Given the description of an element on the screen output the (x, y) to click on. 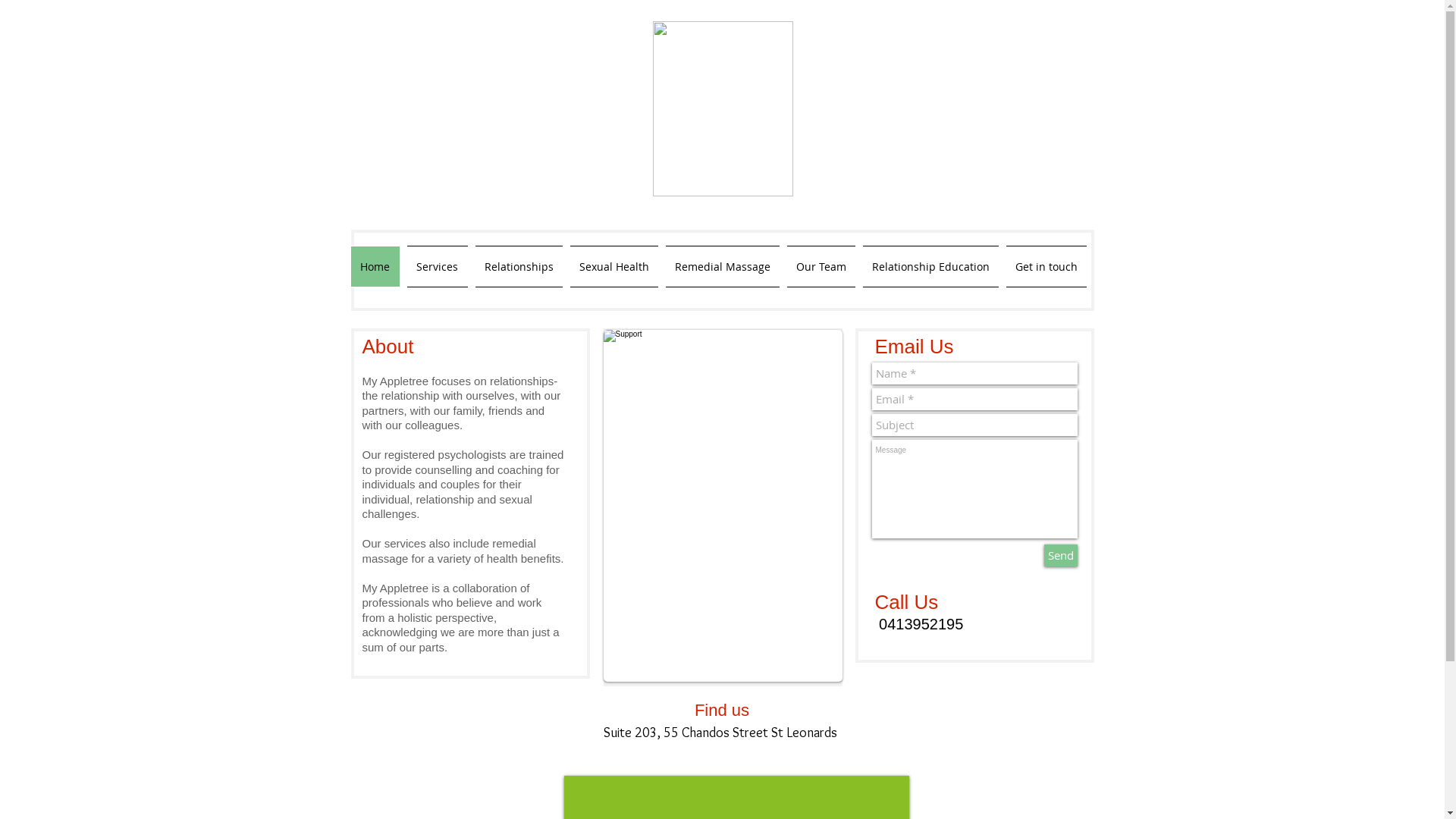
Relationships Element type: text (518, 266)
Remedial Massage Element type: text (721, 266)
My Apple Tree Logo-05FINAL.jpg Element type: hover (722, 108)
Sexual Health Element type: text (613, 266)
Send Element type: text (1059, 555)
Our Team Element type: text (820, 266)
Services Element type: text (437, 266)
Home Element type: text (376, 266)
Get in touch Element type: text (1044, 266)
Relationship Education Element type: text (929, 266)
